Given the description of an element on the screen output the (x, y) to click on. 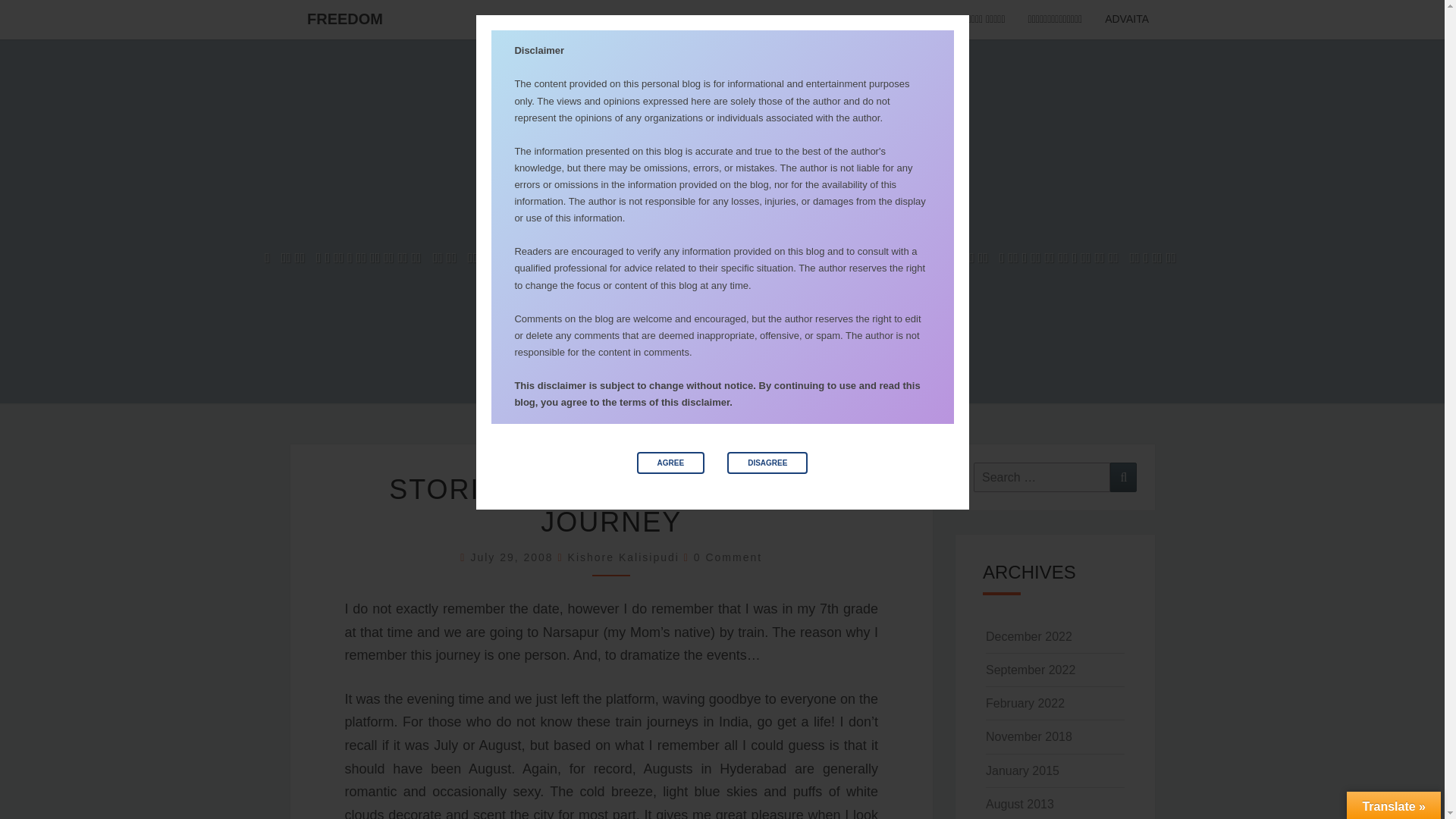
July 29, 2008 (513, 557)
November 2018 (1028, 736)
HOME (867, 19)
September 2022 (1030, 669)
Search (1123, 477)
FREEDOM (344, 18)
January 2015 (1022, 770)
DISAGREE (767, 463)
February 2022 (1024, 703)
Search for: (1041, 477)
December 2022 (1028, 635)
Freedom (721, 221)
Kishore Kalisipudi (623, 557)
12:26 pm (513, 557)
ADVAITA (1126, 19)
